Given the description of an element on the screen output the (x, y) to click on. 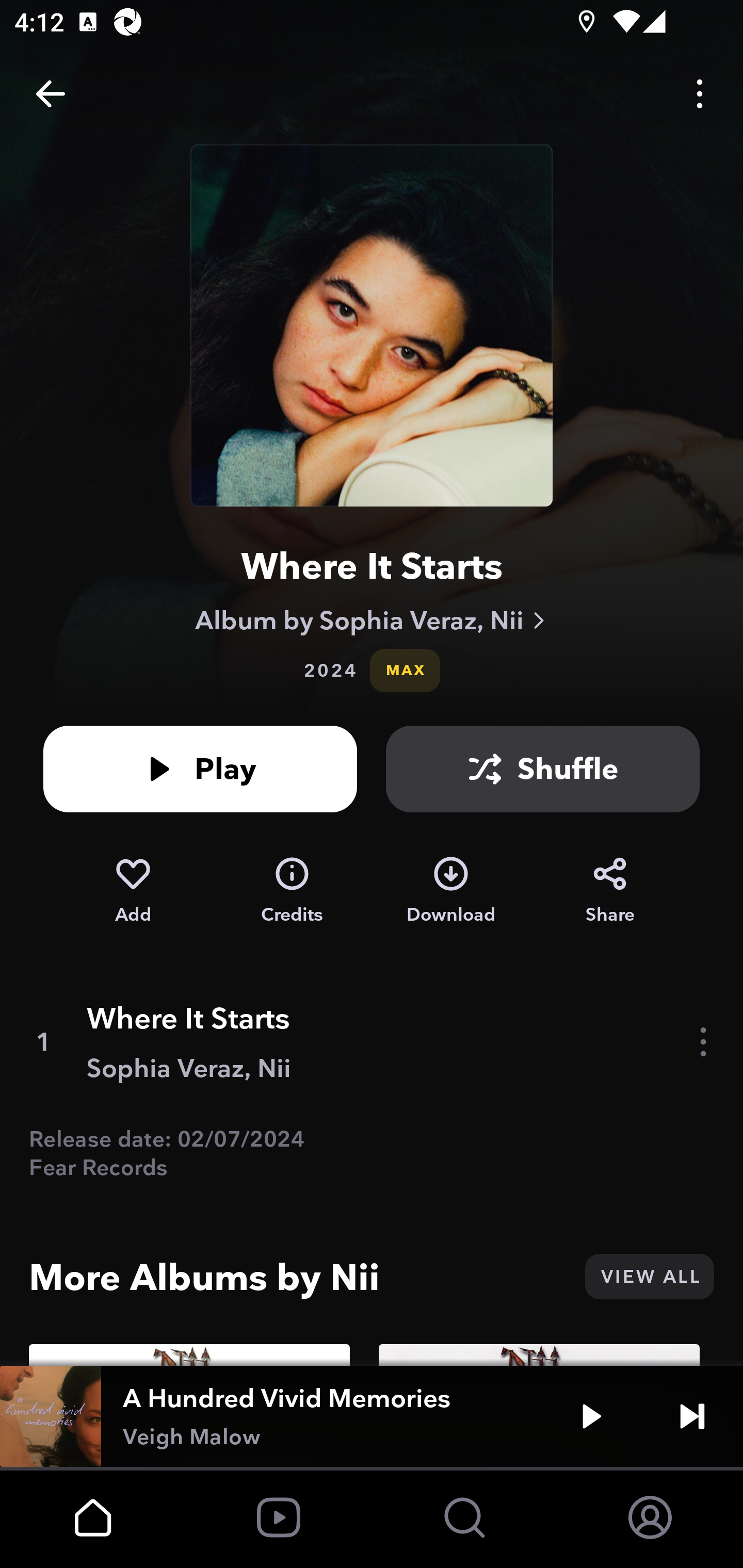
Options (699, 93)
Where It Starts (371, 565)
Album by Sophia Veraz, Nii (371, 619)
Play (200, 768)
Shuffle (542, 768)
Add to My Collection Add (132, 890)
Credits (291, 890)
Download (450, 890)
Share (609, 890)
1 Where It Starts Sophia Veraz, Nii (371, 1041)
VIEW ALL (649, 1276)
A Hundred Vivid Memories Veigh Malow Play (371, 1416)
Play (590, 1416)
